Given the description of an element on the screen output the (x, y) to click on. 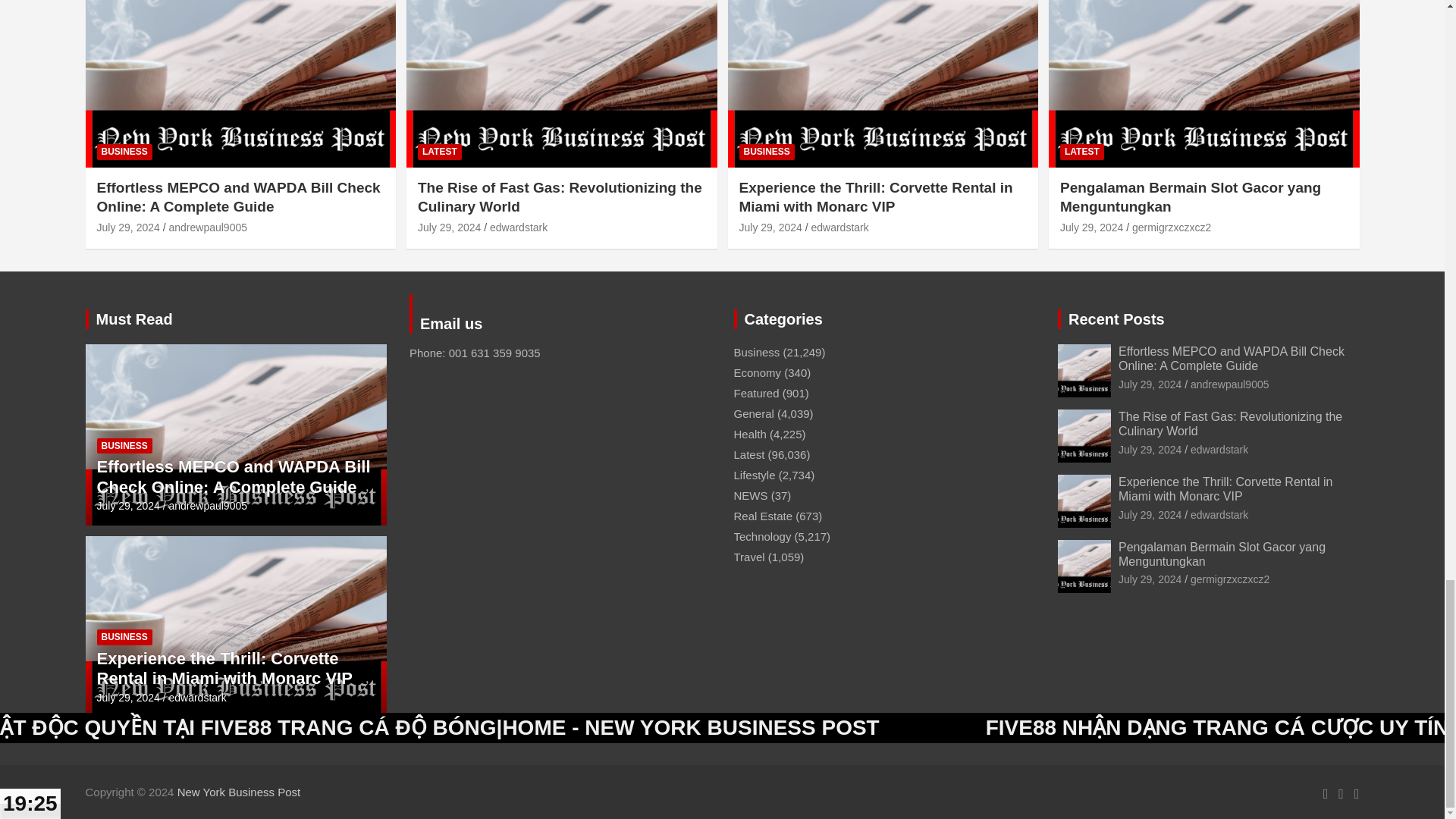
The Rise of Fast Gas: Revolutionizing the Culinary World (448, 227)
The Rise of Fast Gas: Revolutionizing the Culinary World (1149, 449)
Pengalaman Bermain Slot Gacor yang Menguntungkan (1090, 227)
